Given the description of an element on the screen output the (x, y) to click on. 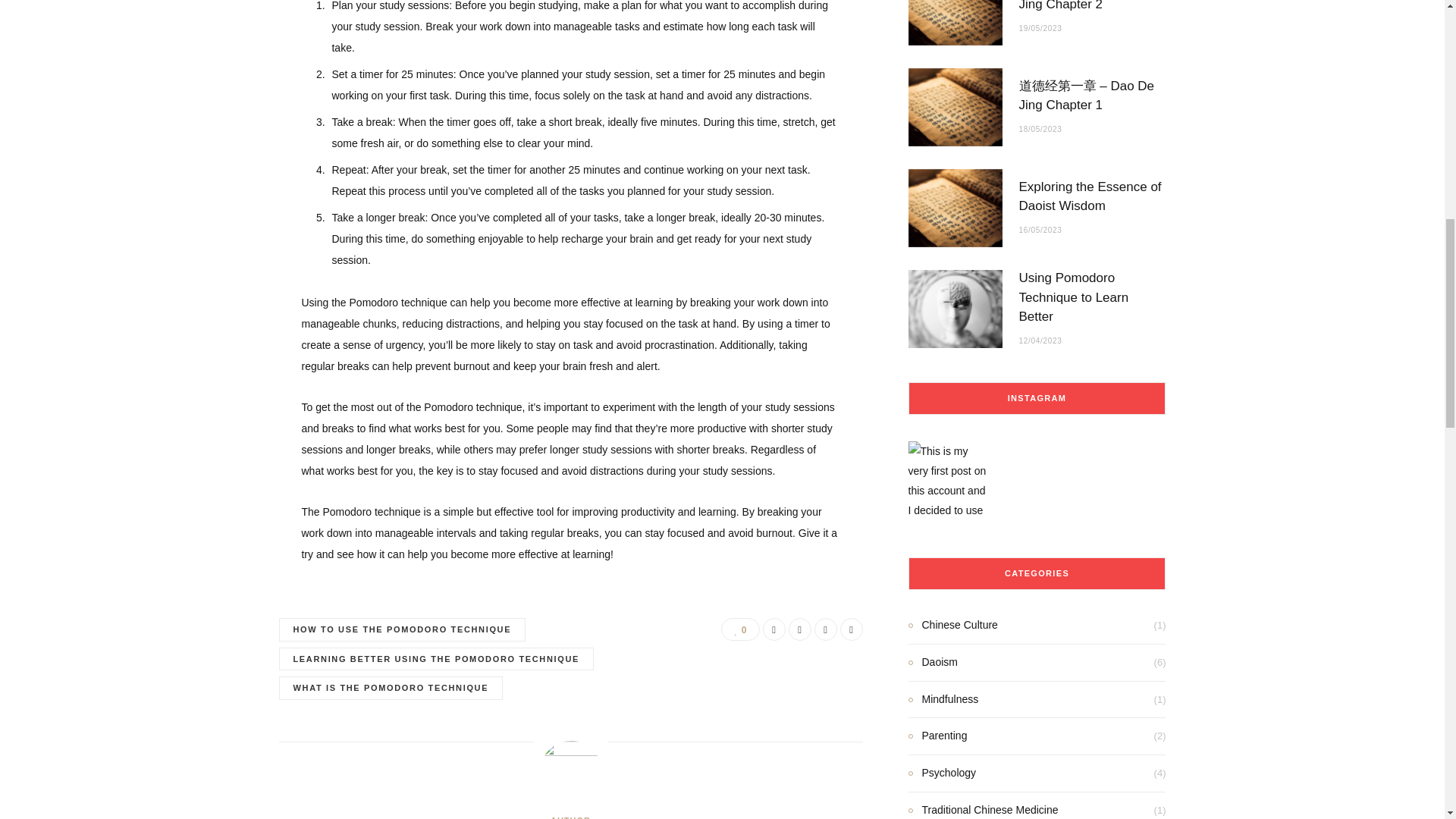
0 (739, 629)
LEARNING BETTER USING THE POMODORO TECHNIQUE (436, 658)
WHAT IS THE POMODORO TECHNIQUE (391, 688)
Pinterest (825, 629)
HOW TO USE THE POMODORO TECHNIQUE (402, 629)
Share on Twitter (799, 629)
Share on Facebook (774, 629)
